Given the description of an element on the screen output the (x, y) to click on. 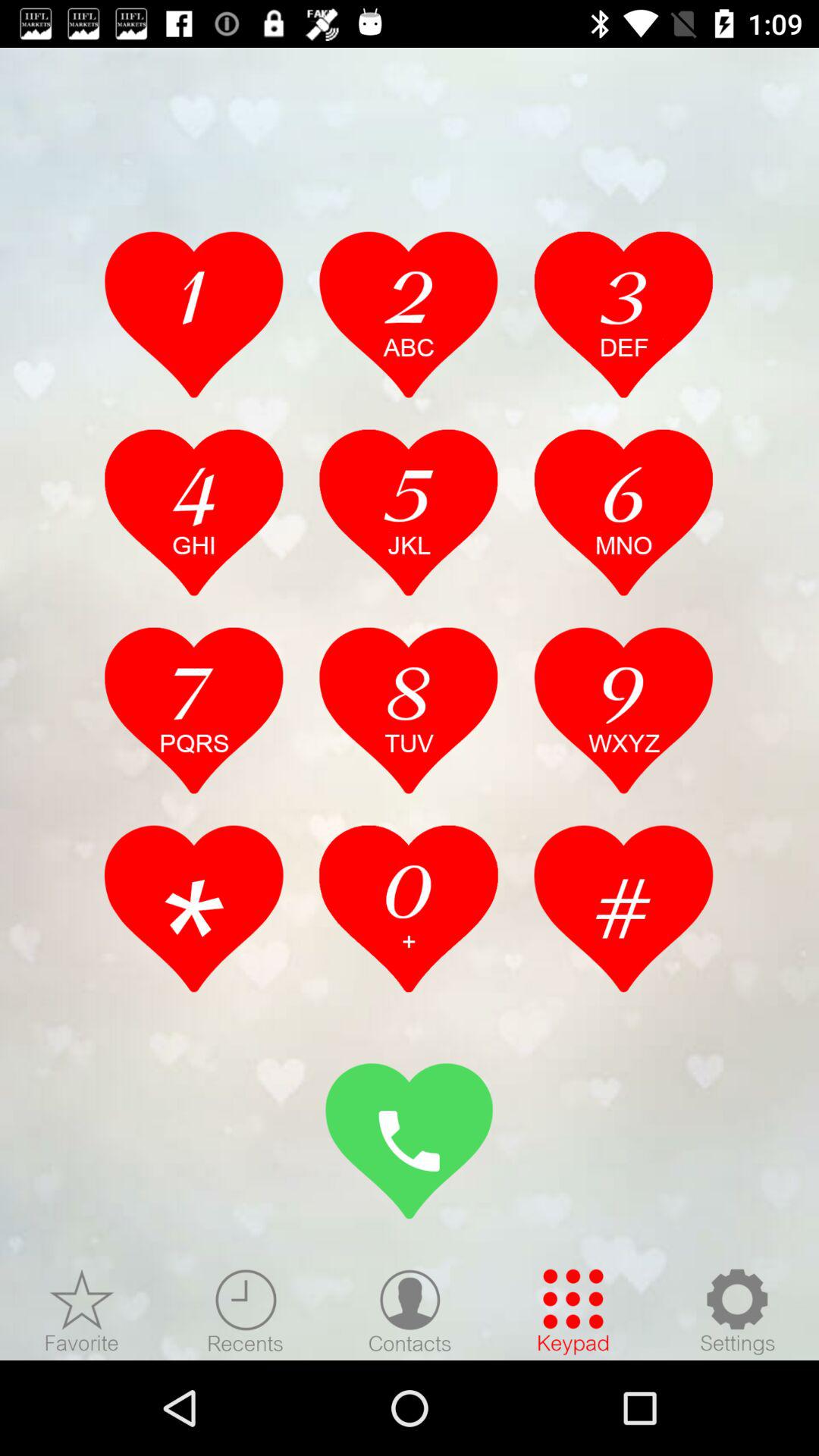
stoggle number board (409, 1140)
